Given the description of an element on the screen output the (x, y) to click on. 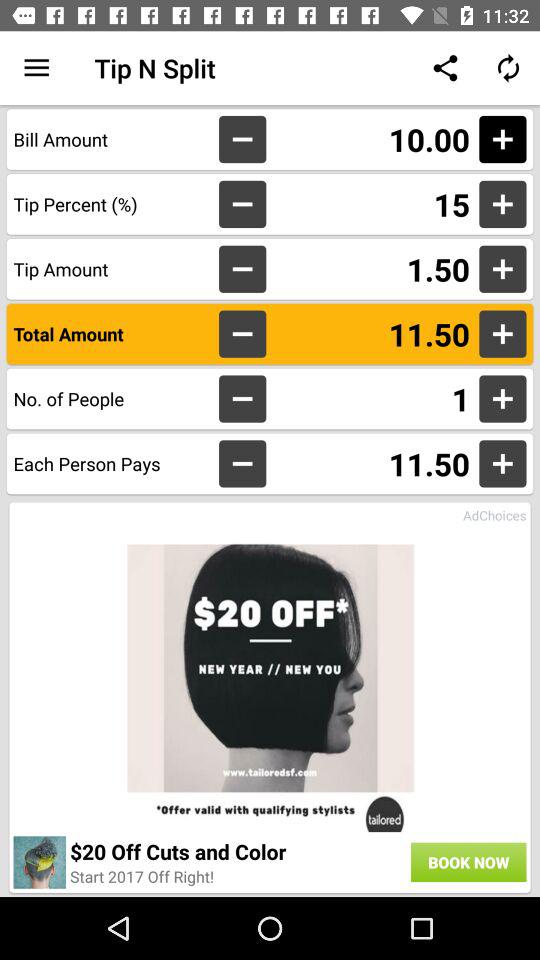
click the icon to the right of 20 off cuts icon (468, 861)
